Given the description of an element on the screen output the (x, y) to click on. 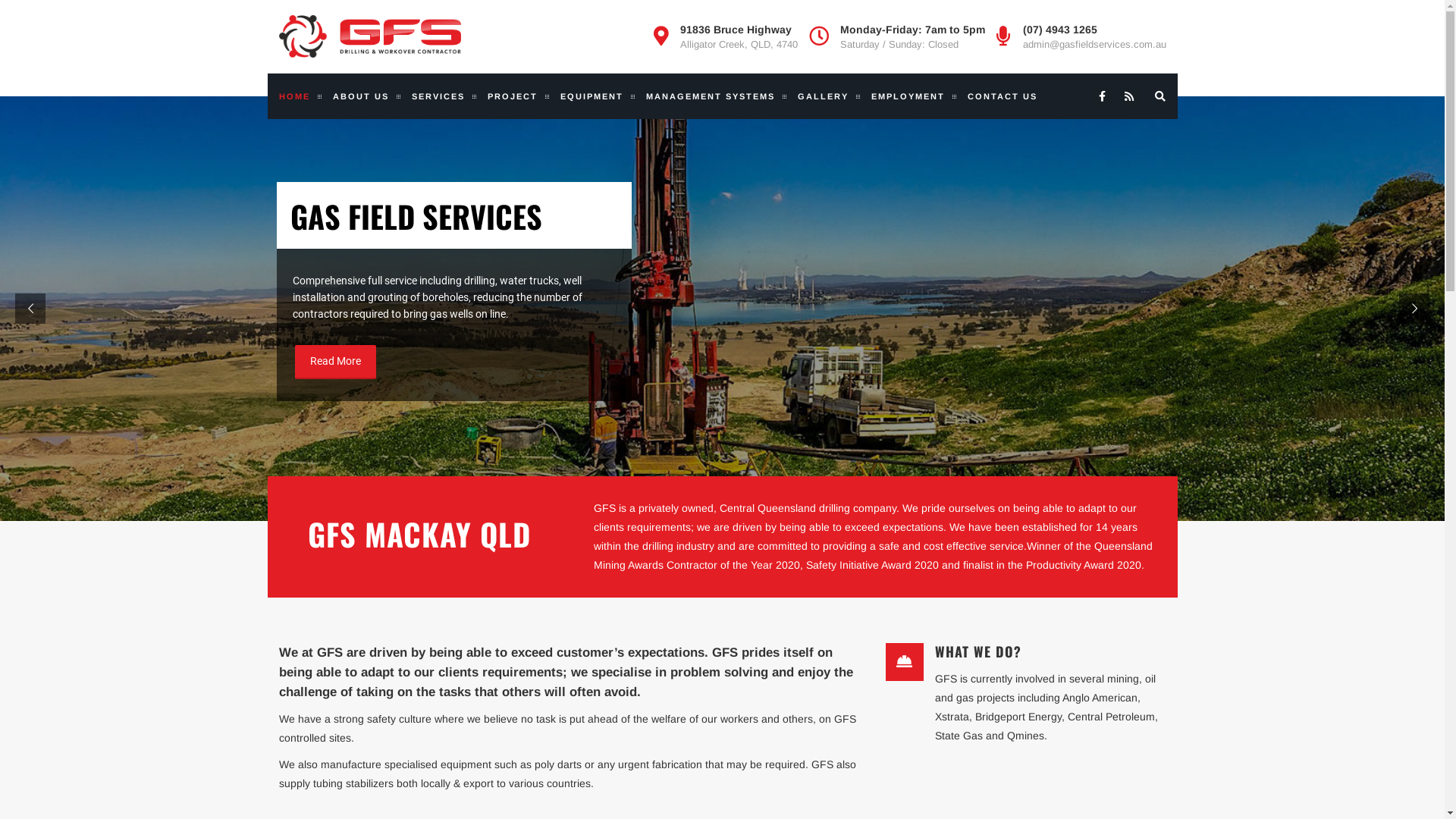
EQUIPMENT Element type: text (591, 96)
GALLERY Element type: text (822, 96)
PROJECT Element type: text (512, 96)
GFS - Central Queensland Drilling Contractor Element type: hover (369, 36)
CONTACT US Element type: text (1001, 96)
ABOUT US Element type: text (360, 96)
MANAGEMENT SYSTEMS Element type: text (709, 96)
SERVICES Element type: text (438, 96)
Read More Element type: text (334, 362)
HOME Element type: text (300, 96)
EMPLOYMENT Element type: text (907, 96)
admin@gasfieldservices.com.au Element type: text (1093, 44)
